Given the description of an element on the screen output the (x, y) to click on. 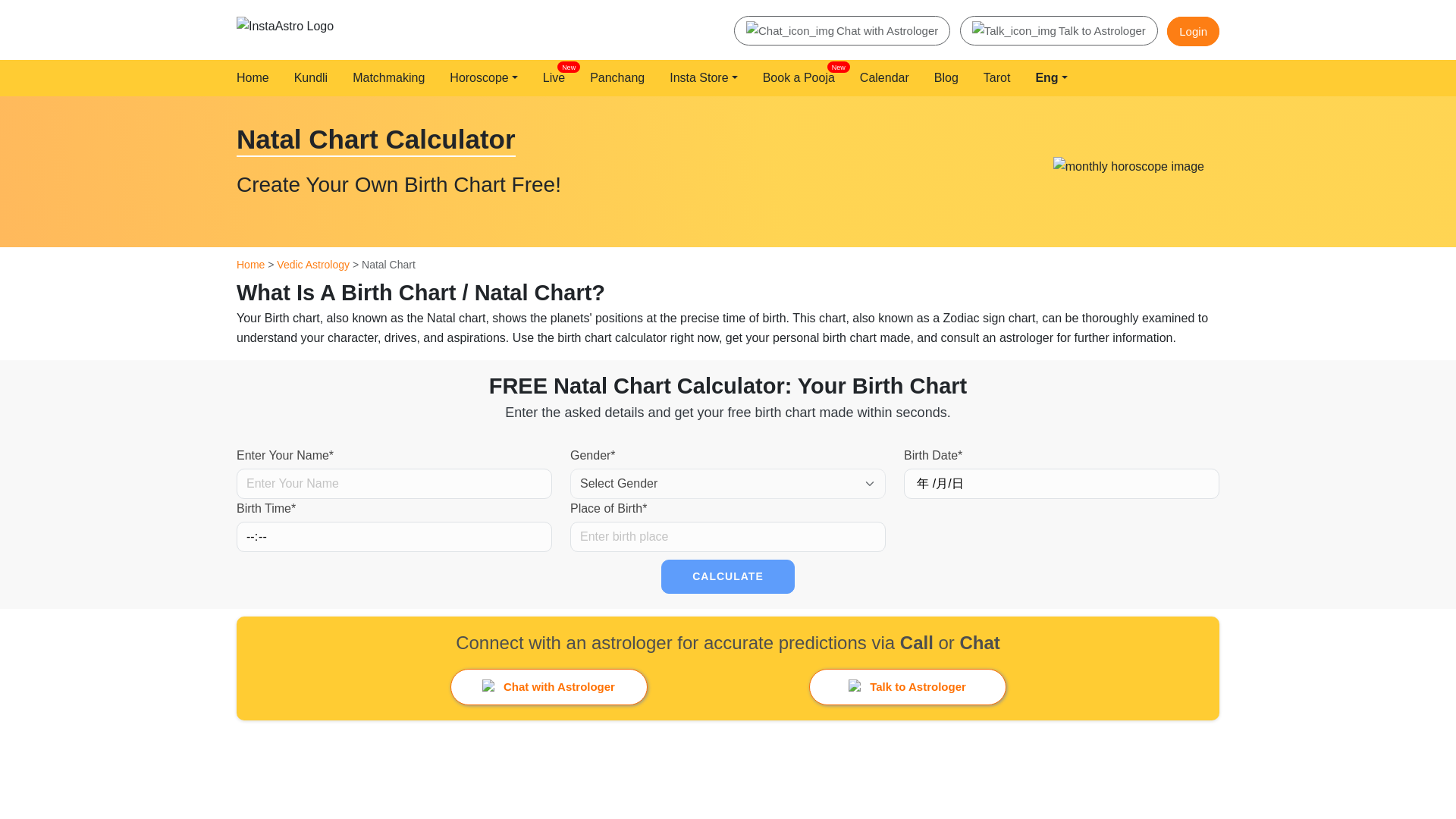
Tarot (1000, 78)
Panchang (619, 78)
Home (255, 78)
Kundli (313, 78)
Panchang (619, 78)
Tarot (1000, 78)
Insta Store (705, 78)
Matchmaking (801, 78)
Home (391, 78)
